Given the description of an element on the screen output the (x, y) to click on. 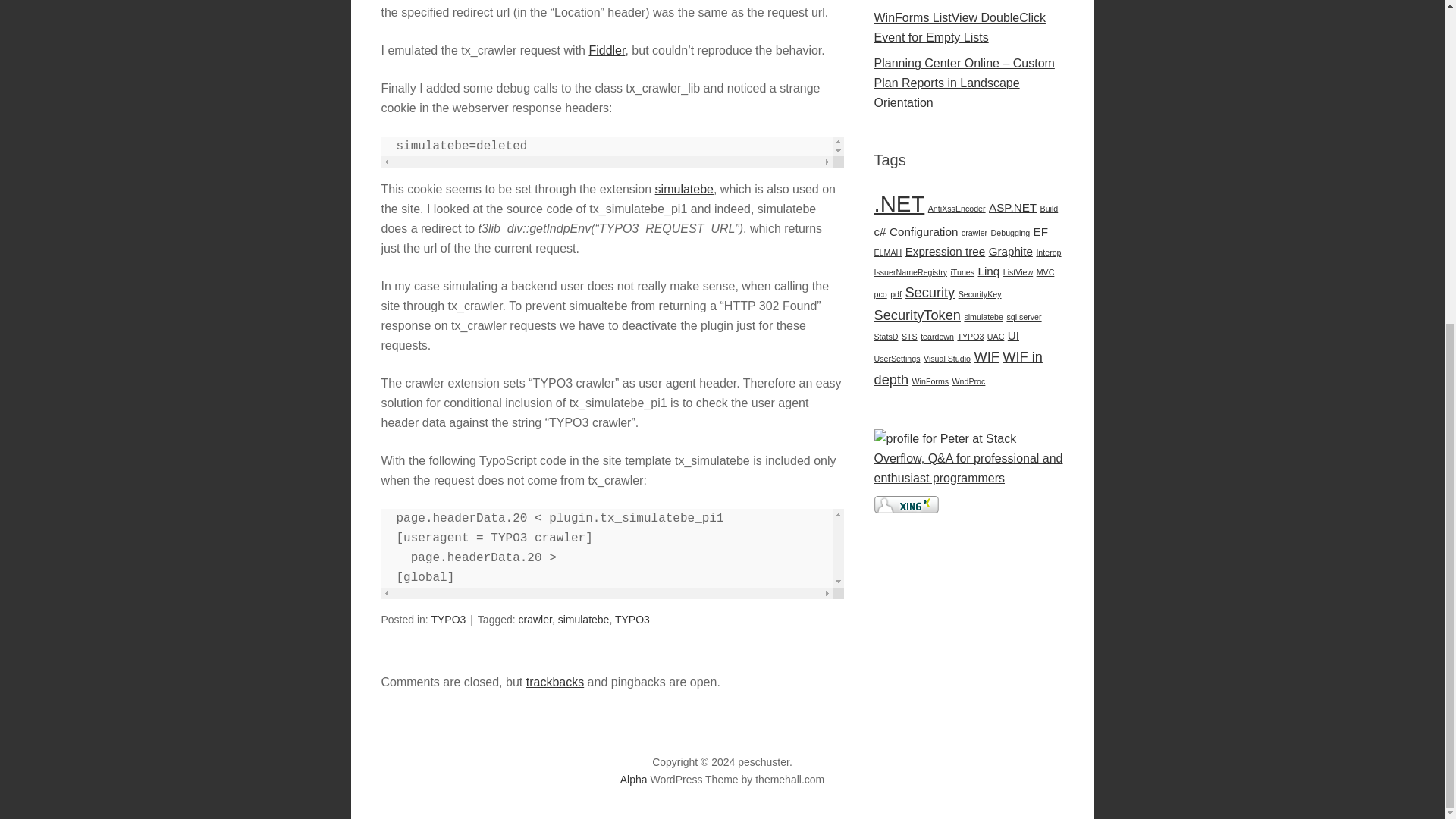
simulatebe (684, 188)
.NET (898, 203)
simulatebe (583, 619)
trackbacks (554, 681)
AntiXssEncoder (956, 207)
crawler (973, 232)
IssuerNameRegistry (910, 271)
Alpha WordPress Theme (633, 779)
TYPO3 (631, 619)
Linq (989, 270)
